Given the description of an element on the screen output the (x, y) to click on. 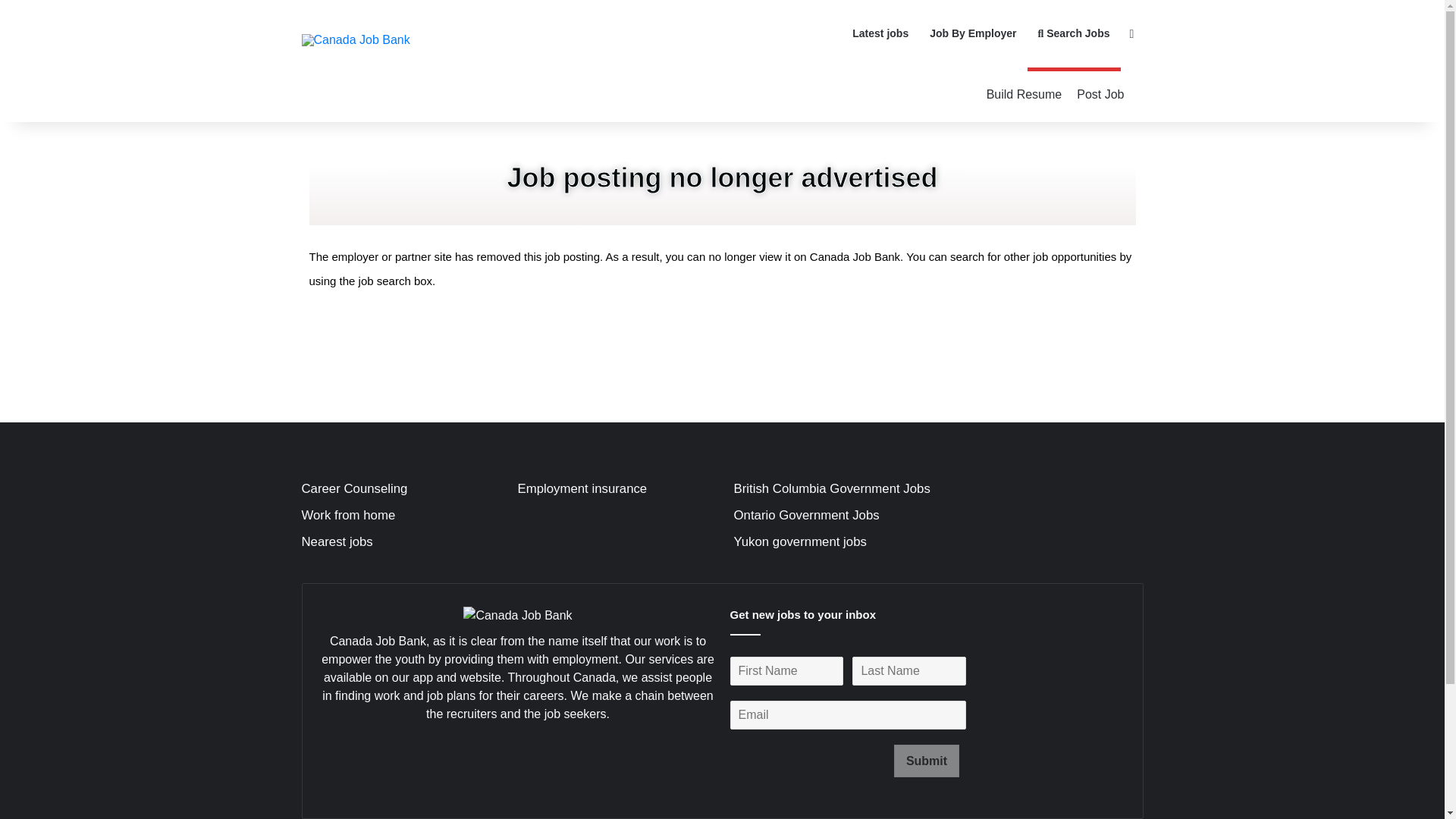
Career Counseling (354, 488)
Search Jobs (1074, 33)
Employment insurance (581, 488)
Post Job (1099, 94)
Latest jobs (879, 33)
Job By Employer (972, 33)
Canada Job Bank (355, 39)
Work from home (348, 514)
British Columbia Government Jobs (831, 488)
Build Resume (1024, 94)
Submit (926, 760)
Ontario Government Jobs (806, 514)
Nearest jobs (336, 541)
Yukon government jobs (799, 541)
